Given the description of an element on the screen output the (x, y) to click on. 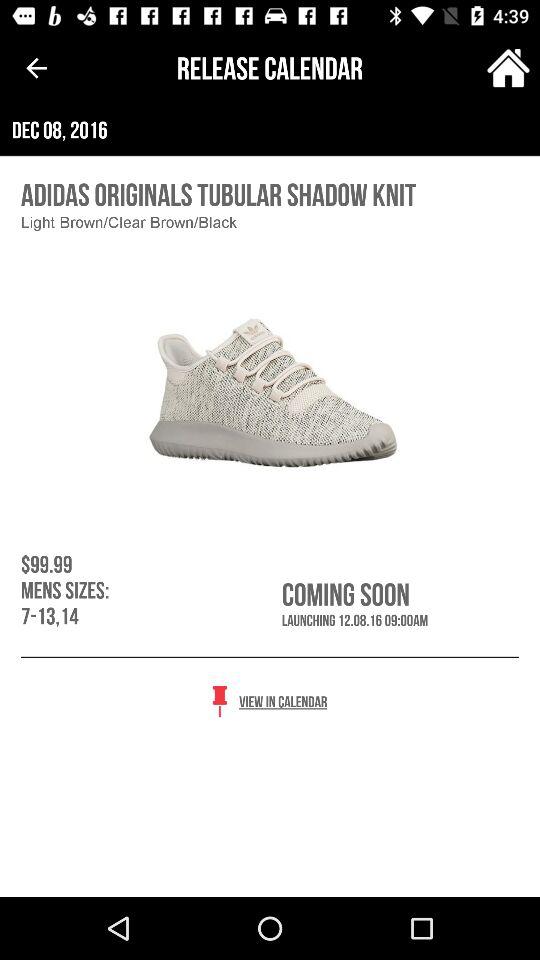
open item to the right of release calendar item (508, 67)
